Given the description of an element on the screen output the (x, y) to click on. 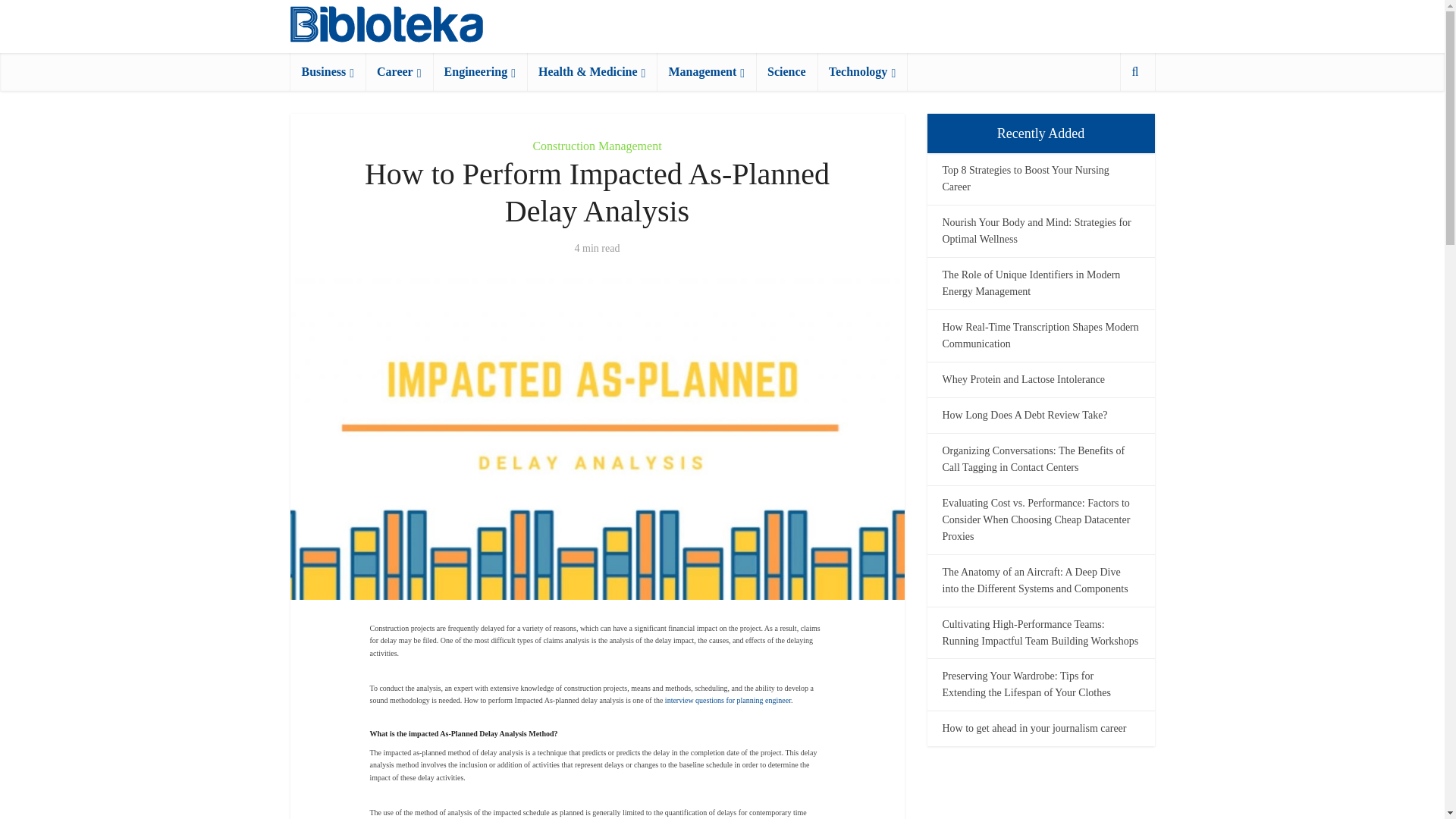
Management (705, 71)
Business (327, 71)
Engineering (479, 71)
Career (398, 71)
Science (785, 71)
interview questions for planning engineer (727, 700)
Technology (861, 71)
Construction Management (596, 145)
